Given the description of an element on the screen output the (x, y) to click on. 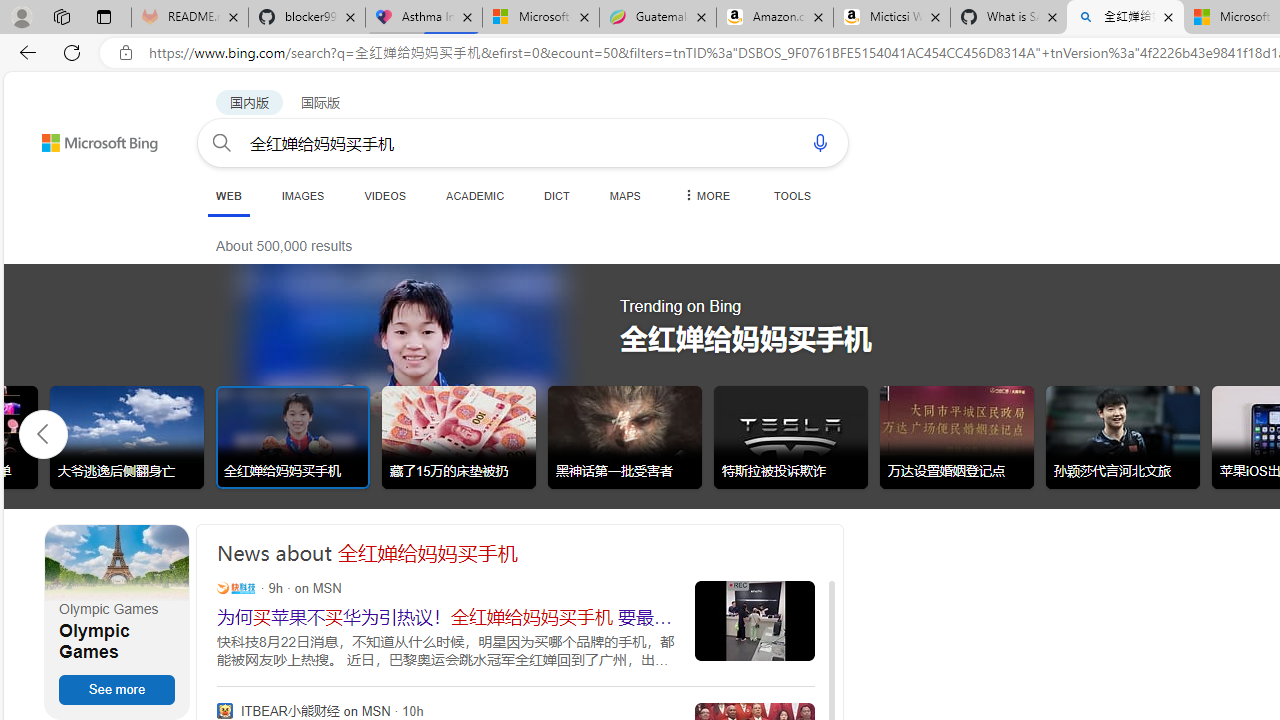
Dropdown Menu (705, 195)
Search button (221, 142)
ACADEMIC (475, 195)
Olympic Games Olympic Games See more (116, 621)
WEB (228, 196)
